Given the description of an element on the screen output the (x, y) to click on. 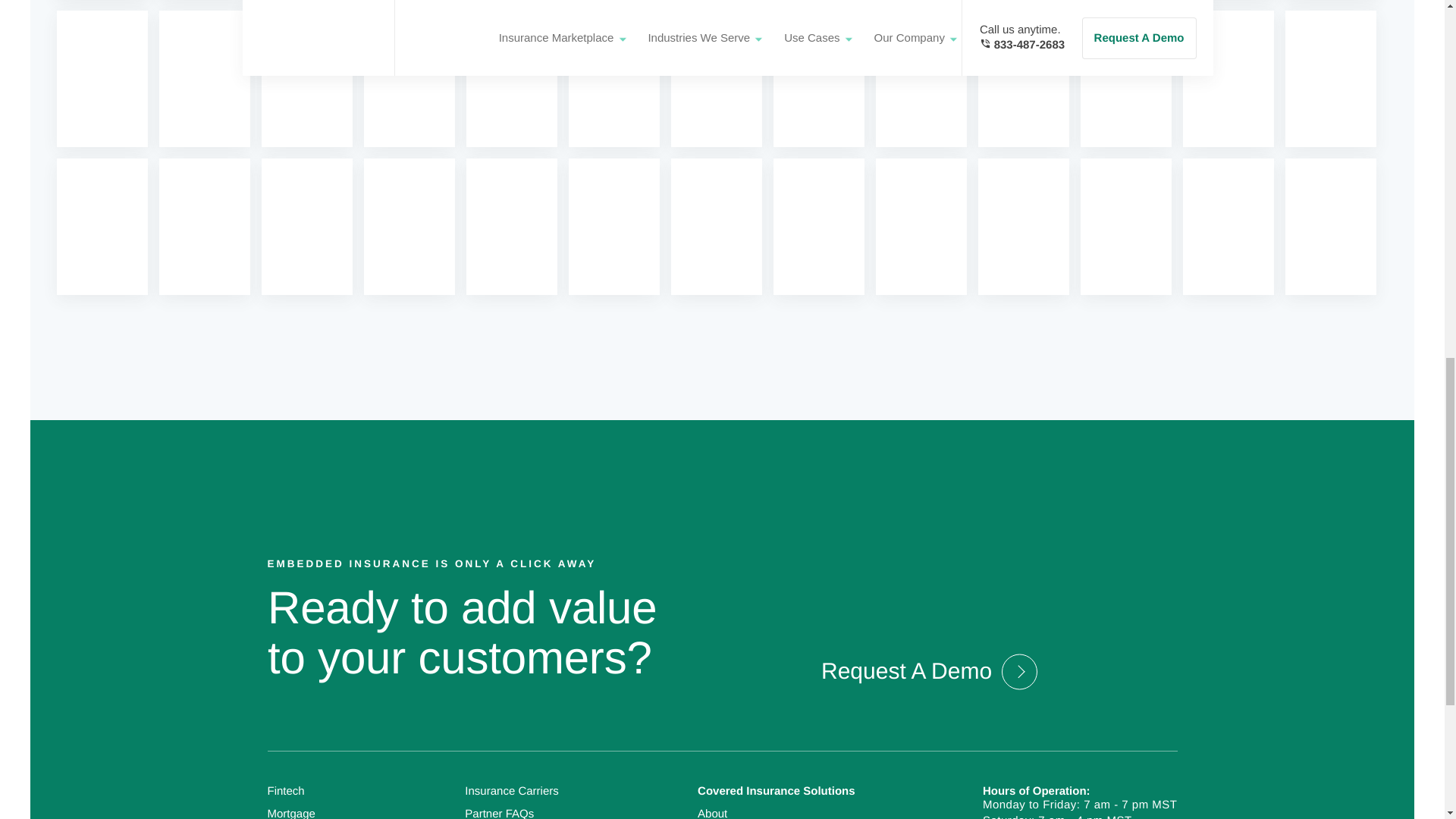
Fintech (285, 790)
